Given the description of an element on the screen output the (x, y) to click on. 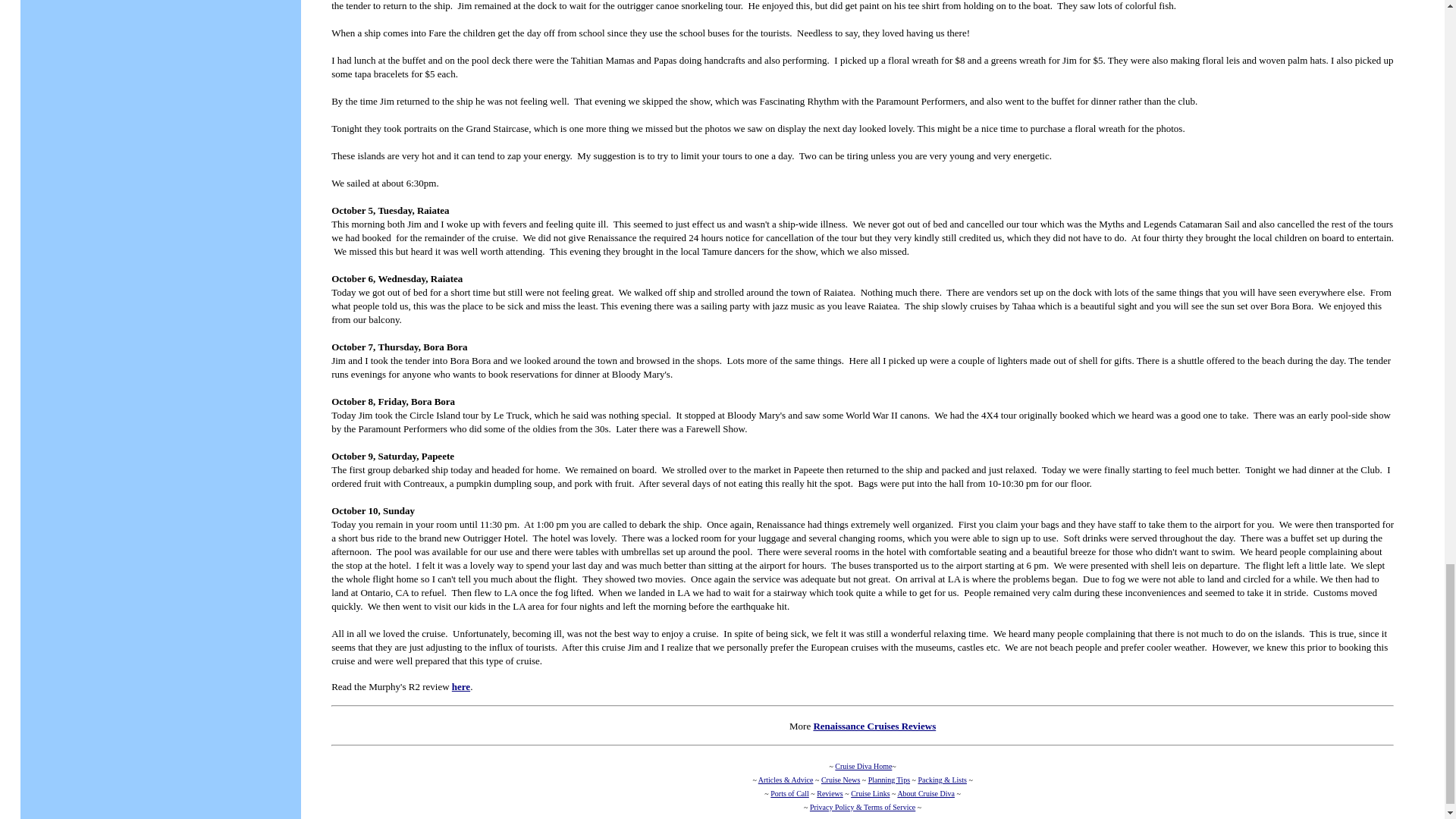
here (460, 686)
Cruise News (840, 779)
Planning Tips (888, 779)
Cruise Diva Home (862, 766)
Renaissance Cruises Reviews (874, 726)
Ports of Call (789, 793)
Reviews (829, 793)
Cruise Links (869, 793)
About Cruise Diva (925, 793)
